Given the description of an element on the screen output the (x, y) to click on. 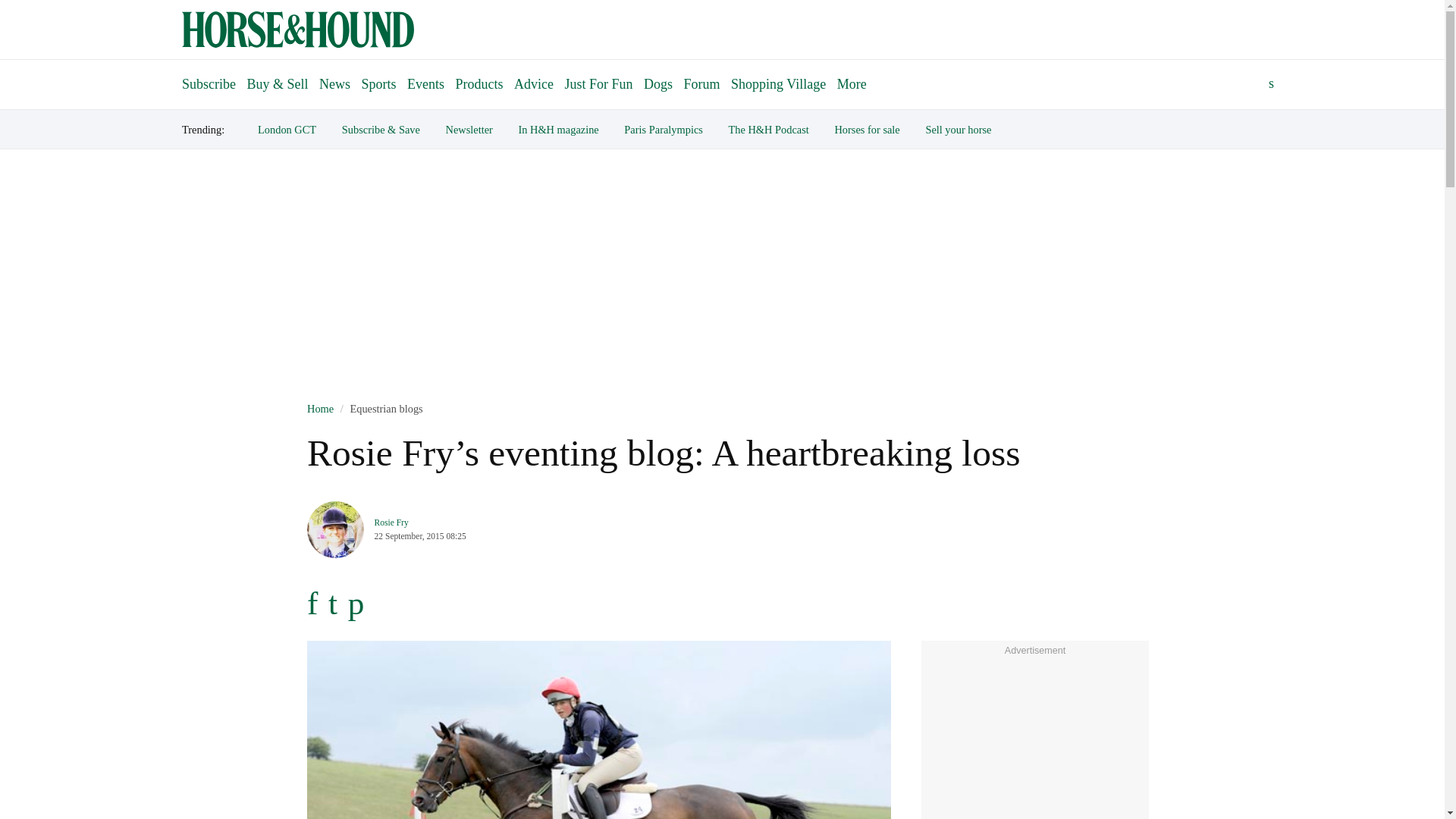
Subscribe (208, 77)
Advice (534, 83)
Events (425, 83)
Products (478, 83)
